Given the description of an element on the screen output the (x, y) to click on. 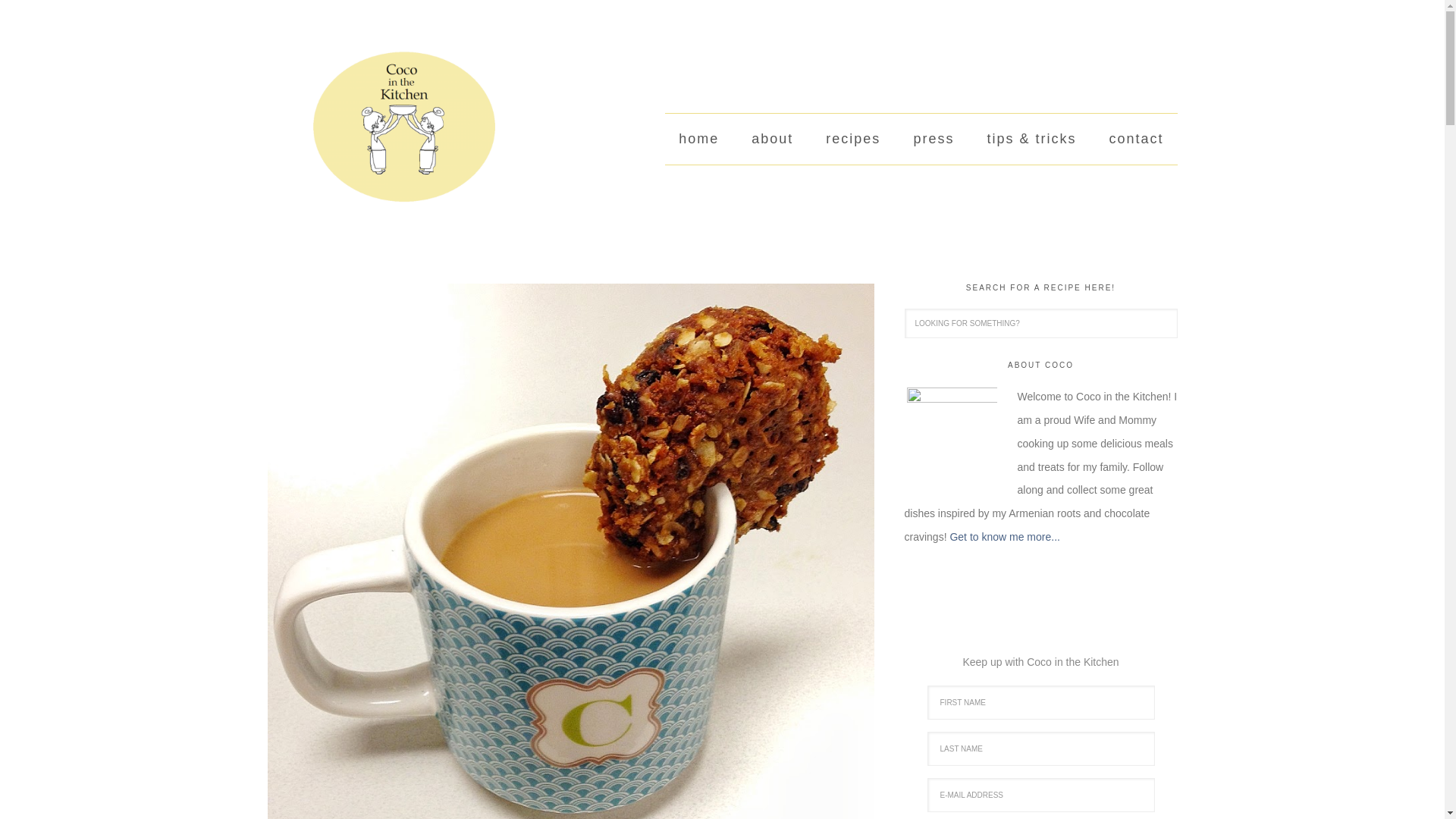
about (772, 138)
recipes (852, 138)
Coco in the Kitchen (380, 132)
contact (1135, 138)
Get to know me more... (1004, 536)
home (698, 138)
press (933, 138)
